Given the description of an element on the screen output the (x, y) to click on. 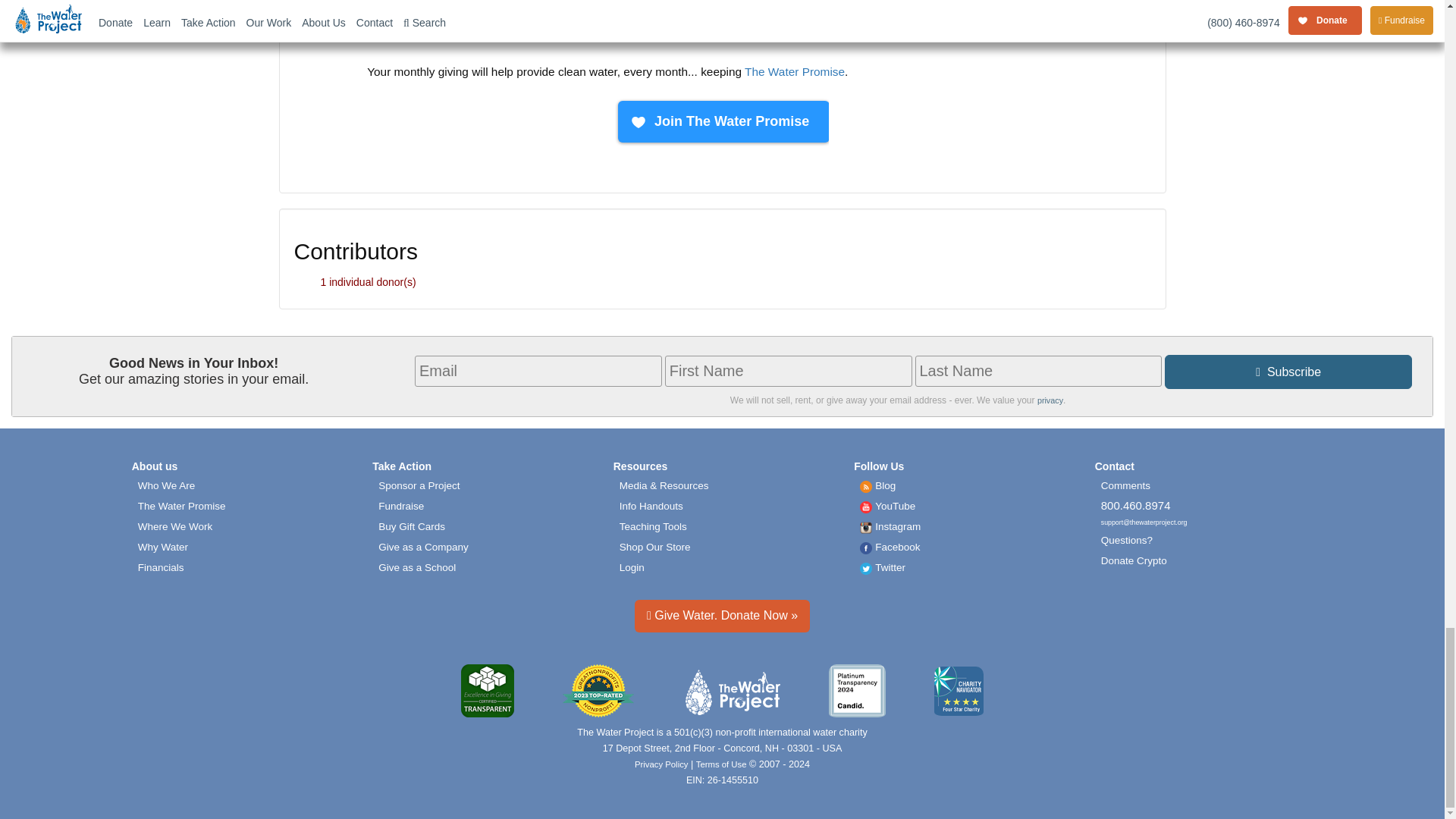
The Water Project logos and other brand assets (664, 485)
Donate Button (721, 122)
2023 Top-rated nonprofits and charities (597, 692)
